Given the description of an element on the screen output the (x, y) to click on. 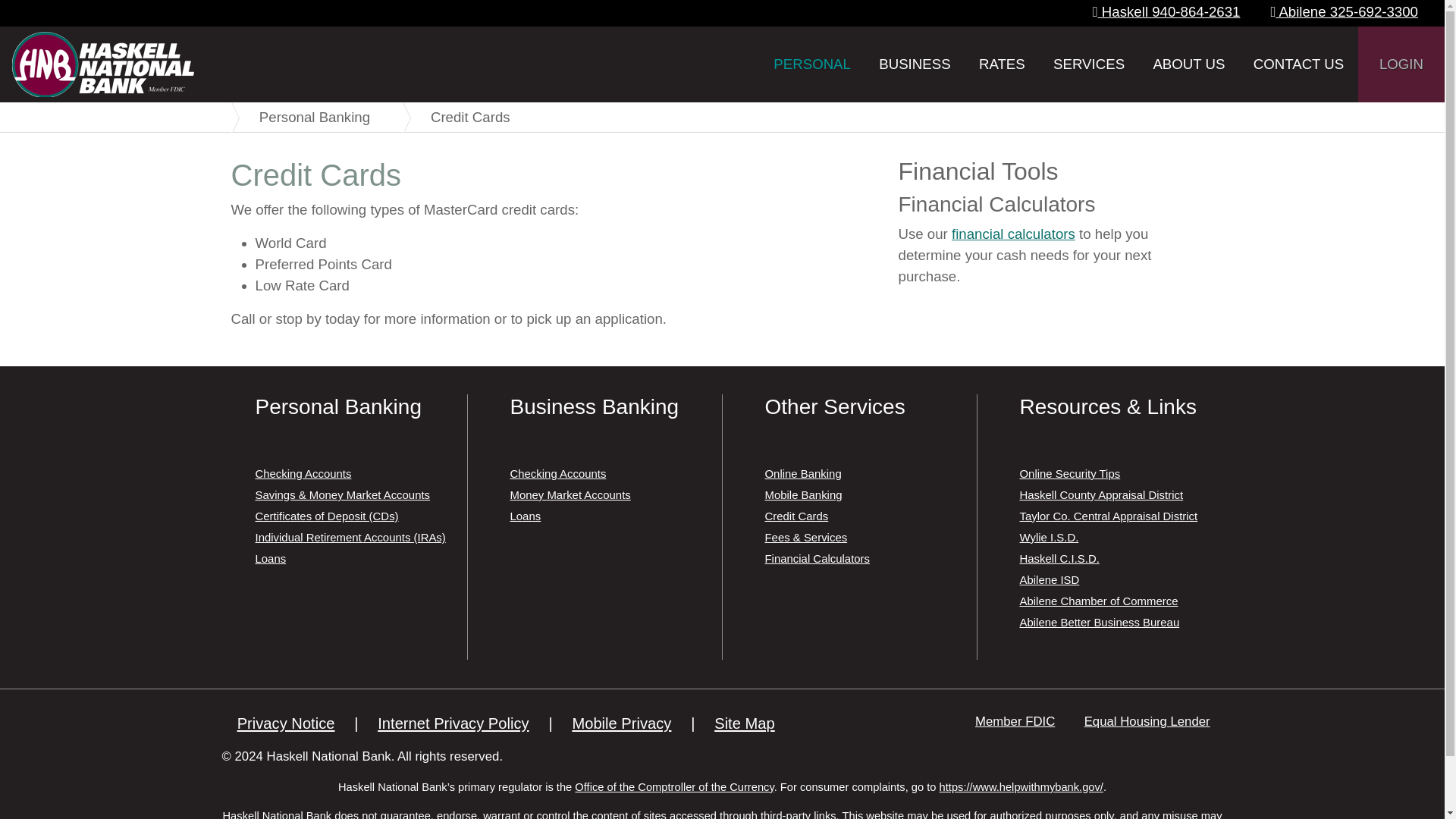
Abilene 325-692-3300 (1343, 11)
Haskell National Bank (102, 64)
CONTACT US (1298, 64)
BUSINESS (914, 64)
Checking Accounts (302, 472)
Haskell 940-864-2631 (1166, 11)
ABOUT US (1188, 64)
financial calculators (1013, 233)
SERVICES (1088, 64)
RATES (1001, 64)
